Given the description of an element on the screen output the (x, y) to click on. 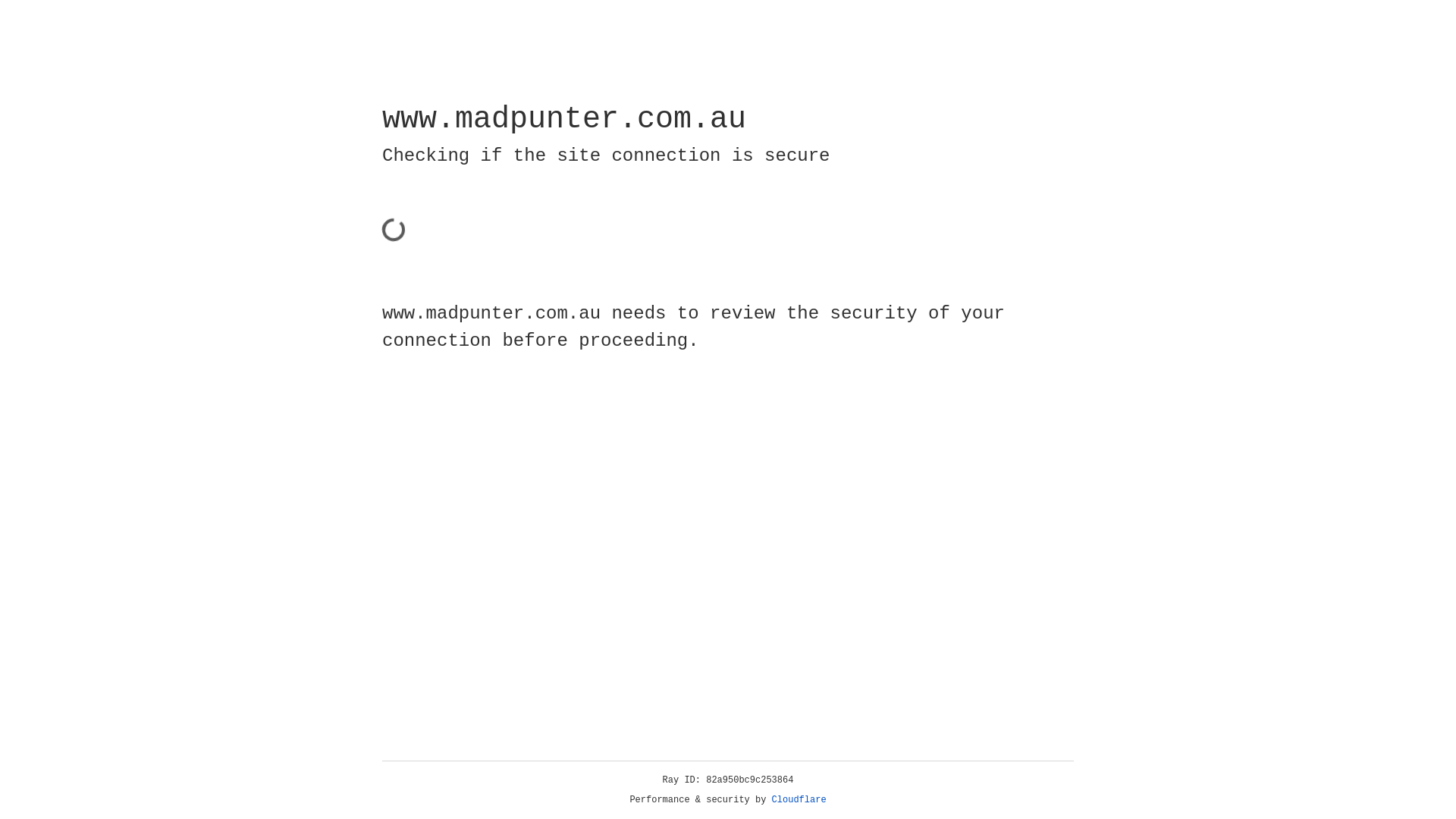
Cloudflare Element type: text (798, 799)
